Given the description of an element on the screen output the (x, y) to click on. 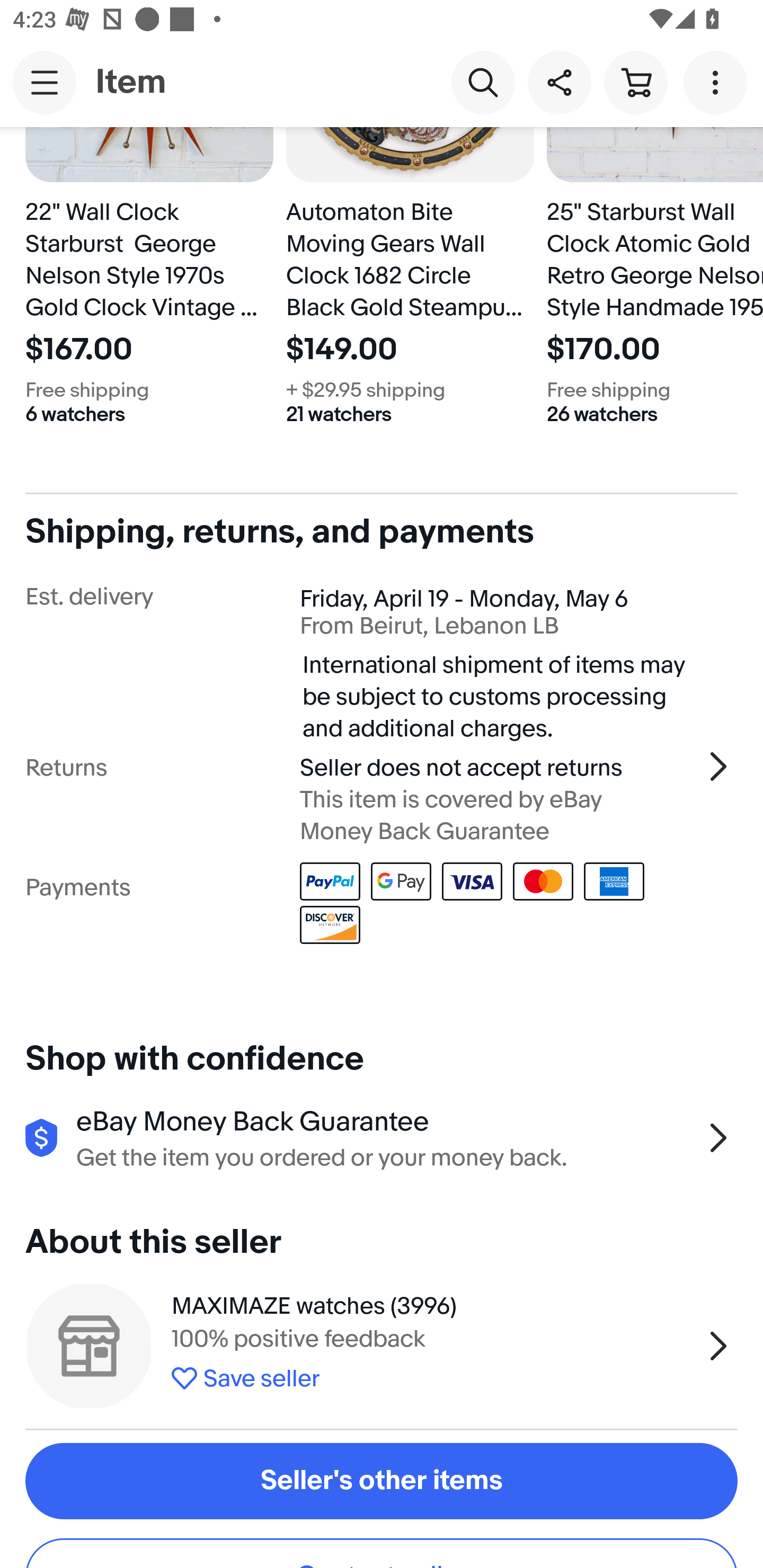
Main navigation, open (44, 82)
Search (482, 81)
Share this item (559, 81)
Cart button shopping cart (635, 81)
More options (718, 81)
Save seller (431, 1374)
Seller's other items (381, 1480)
